Given the description of an element on the screen output the (x, y) to click on. 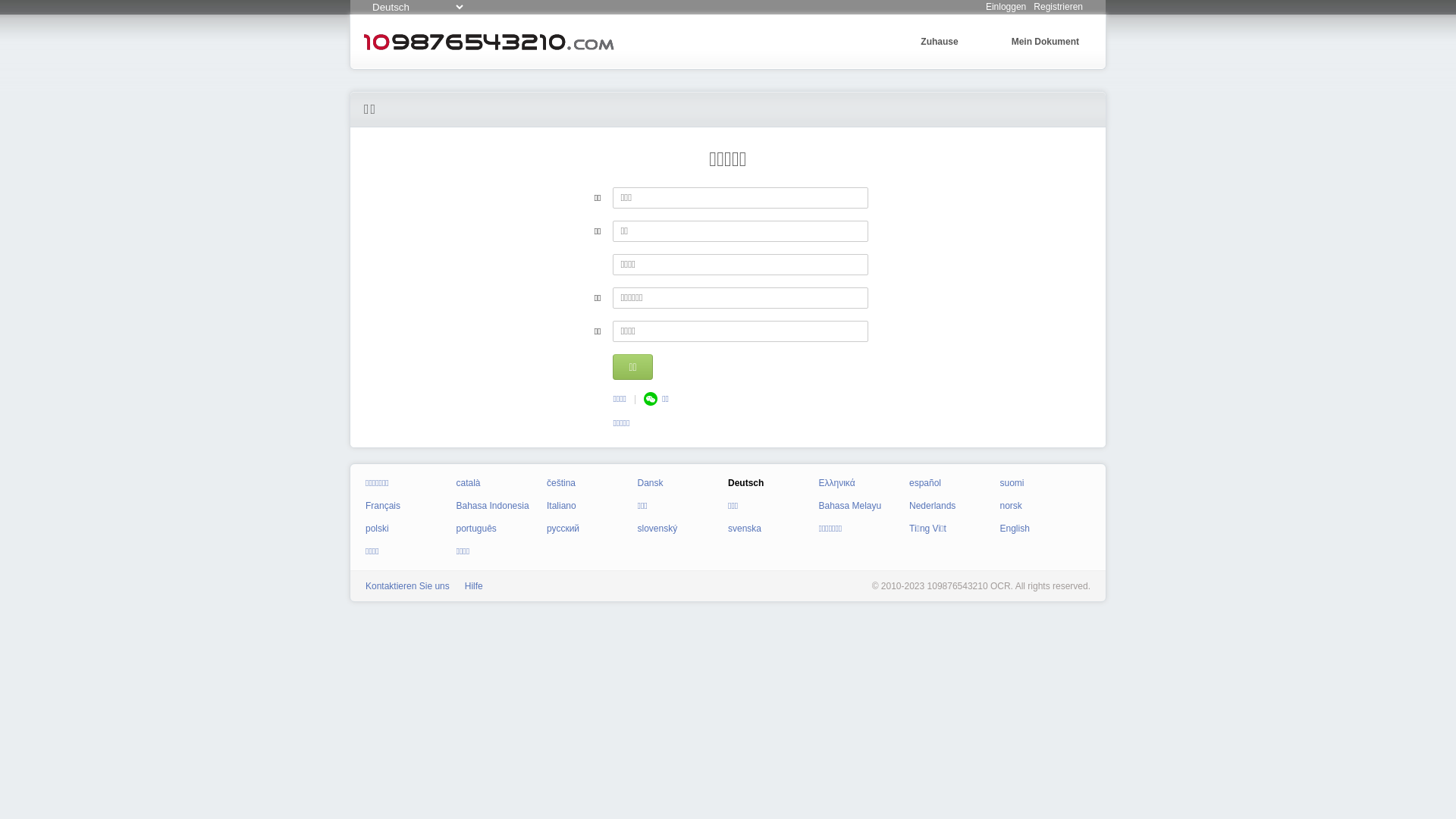
svenska Element type: text (744, 528)
Mein Dokument Element type: text (1045, 41)
Dansk Element type: text (649, 482)
English Element type: text (1014, 528)
Nederlands Element type: text (932, 505)
Registrieren Element type: text (1057, 6)
Hilfe Element type: text (473, 585)
Zuhause Element type: text (939, 41)
norsk Element type: text (1010, 505)
Kontaktieren Sie uns Element type: text (407, 585)
polski Element type: text (377, 528)
Einloggen Element type: text (1005, 6)
suomi Element type: text (1011, 482)
Italiano Element type: text (561, 505)
Bahasa Indonesia Element type: text (492, 505)
Bahasa Melayu Element type: text (850, 505)
